Given the description of an element on the screen output the (x, y) to click on. 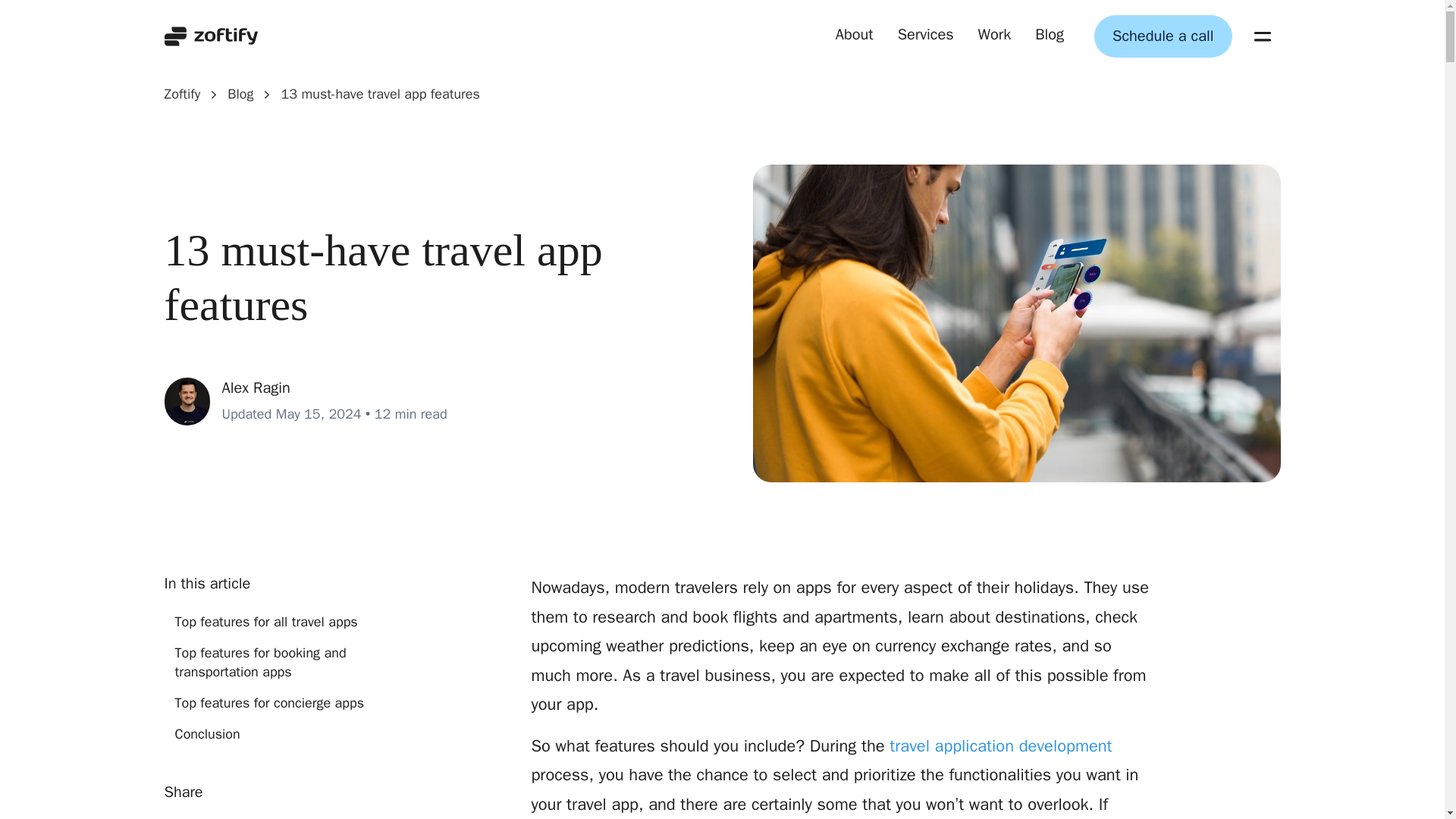
Blog (1049, 36)
Top features for booking and transportation apps (277, 662)
About (854, 36)
Conclusion (277, 733)
Top features for concierge apps (277, 702)
Work (994, 36)
travel application development (1000, 745)
Zoftify (181, 94)
Services (925, 36)
Blog (240, 94)
